Given the description of an element on the screen output the (x, y) to click on. 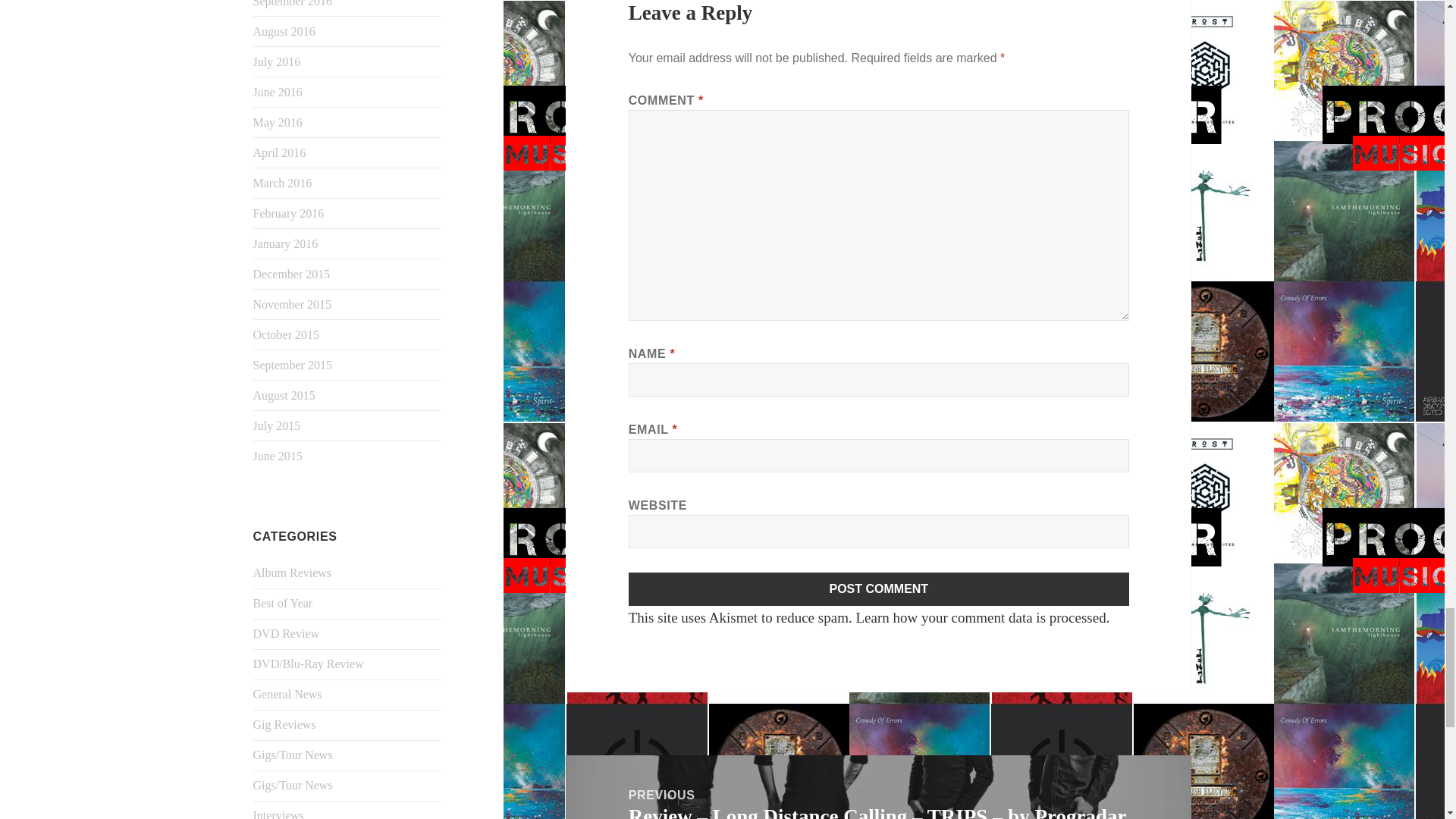
Post Comment (878, 589)
